Given the description of an element on the screen output the (x, y) to click on. 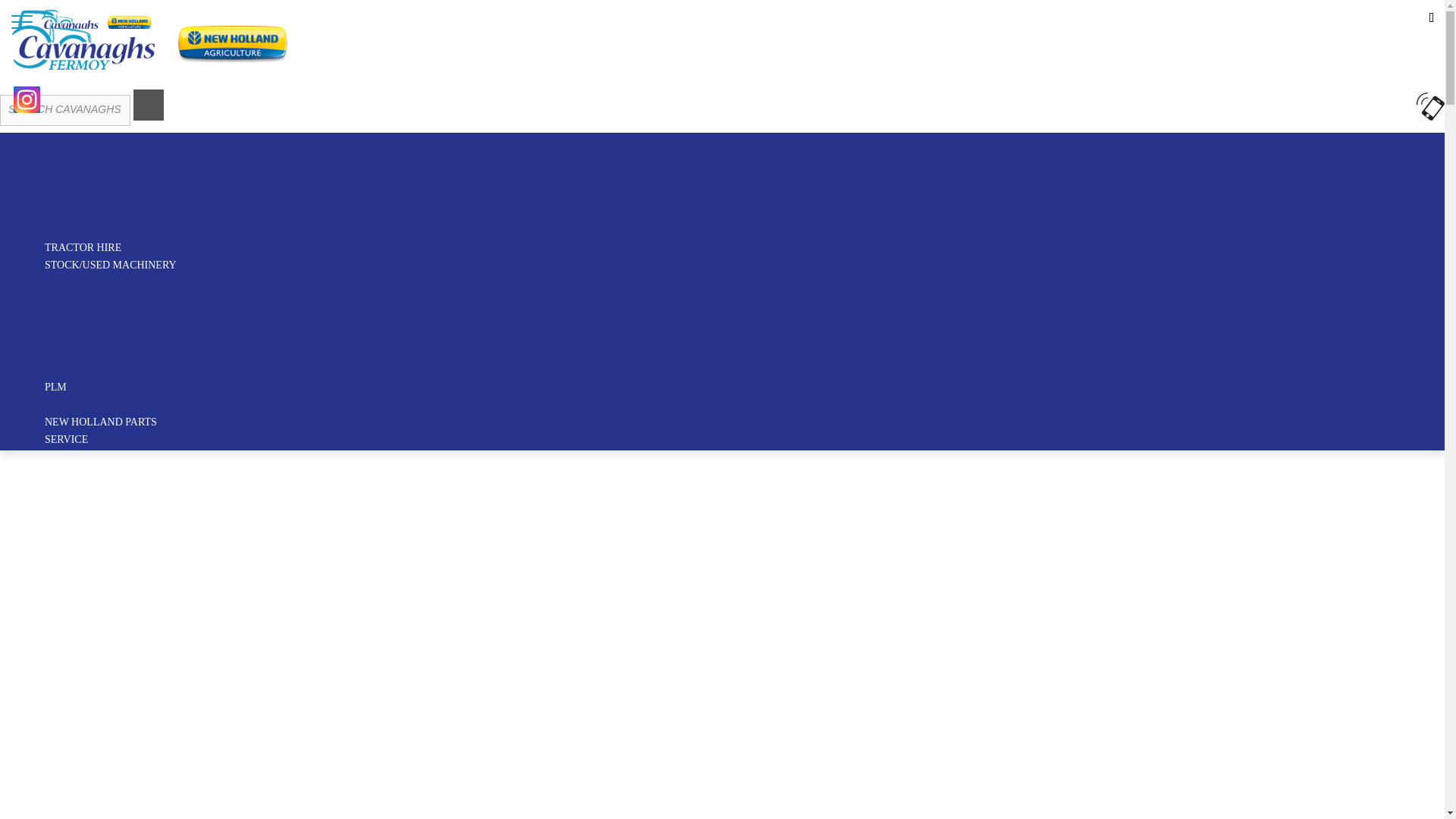
Contact Us (70, 14)
NEW HOLLAND AGRICULTURE (121, 107)
News (19, 14)
HOME (56, 90)
